Given the description of an element on the screen output the (x, y) to click on. 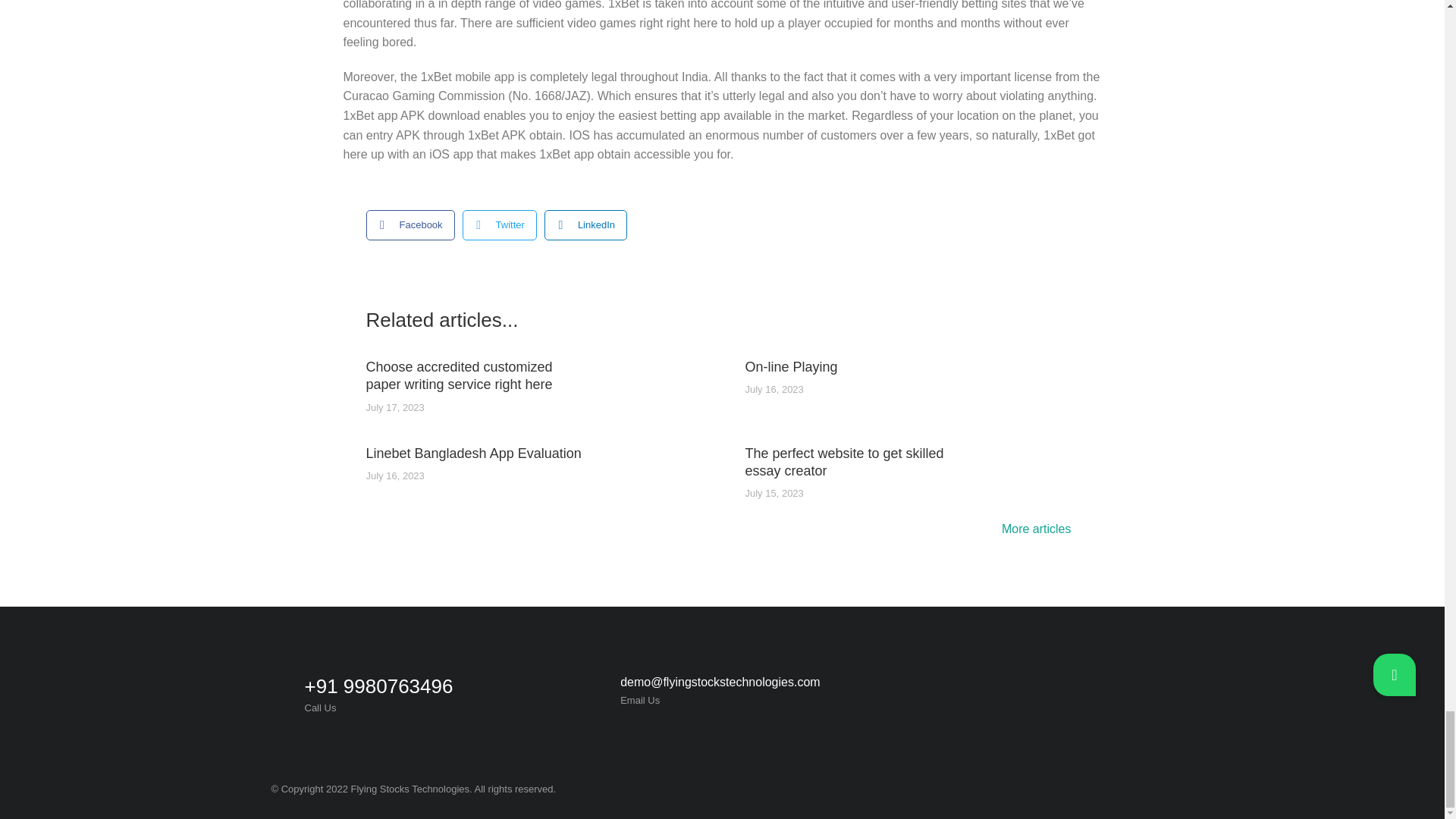
4:29 pm (394, 476)
More articles (1039, 530)
4:37 pm (773, 390)
July 15, 2023 (773, 493)
12:00 am (394, 408)
On-line Playing (790, 366)
On-line Playing (790, 366)
Linebet Bangladesh App Evaluation (472, 453)
The perfect website to get skilled essay creator (853, 462)
12:00 am (773, 493)
Linebet Bangladesh App Evaluation (472, 453)
July 17, 2023 (394, 408)
The perfect website to get skilled essay creator (853, 462)
